Given the description of an element on the screen output the (x, y) to click on. 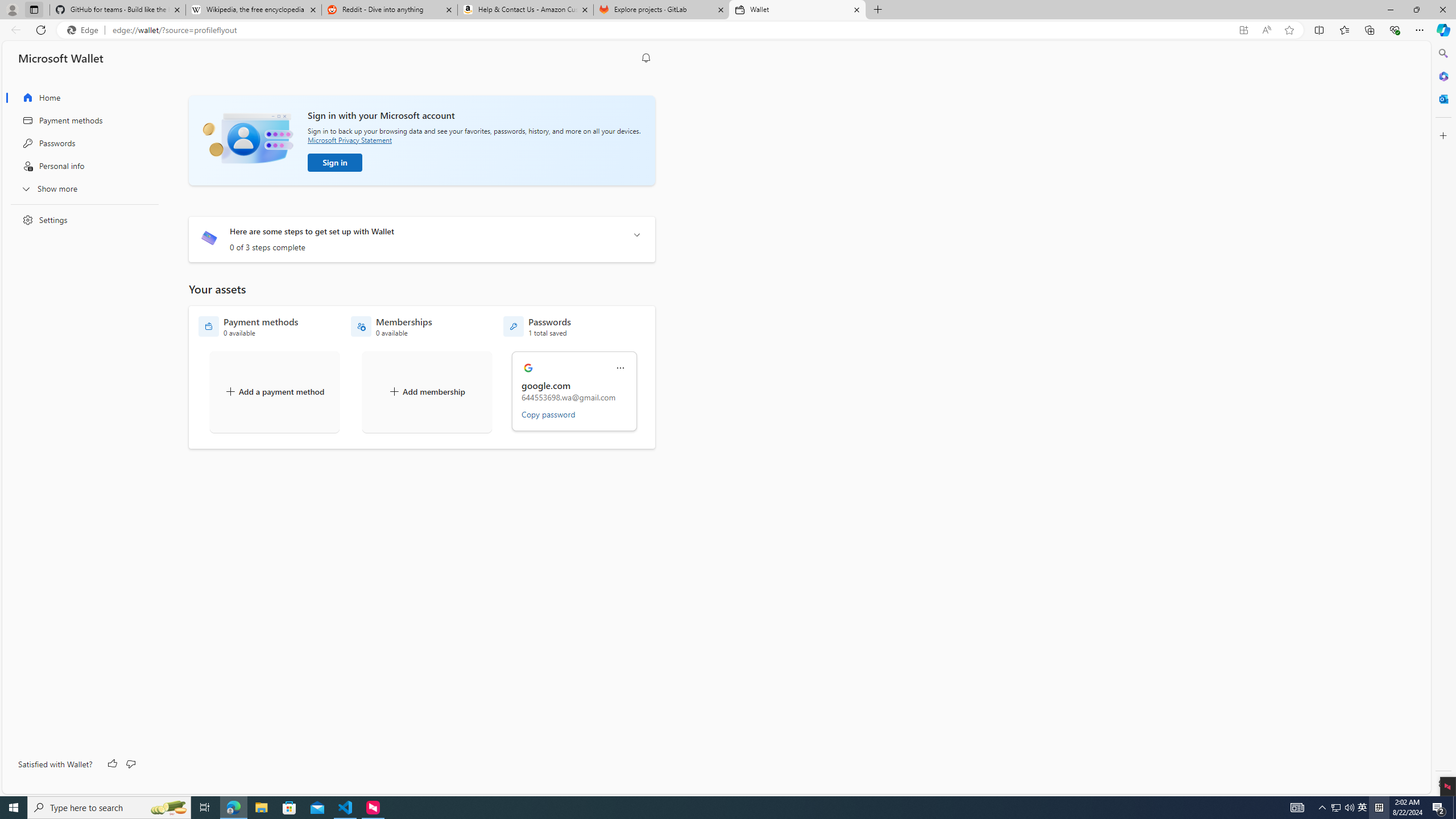
More actions google.com 644553698.wa@gmail.com Copy password (574, 391)
Help & Contact Us - Amazon Customer Service (525, 9)
Wikipedia, the free encyclopedia (253, 9)
Microsoft Privacy Statement (349, 139)
